Given the description of an element on the screen output the (x, y) to click on. 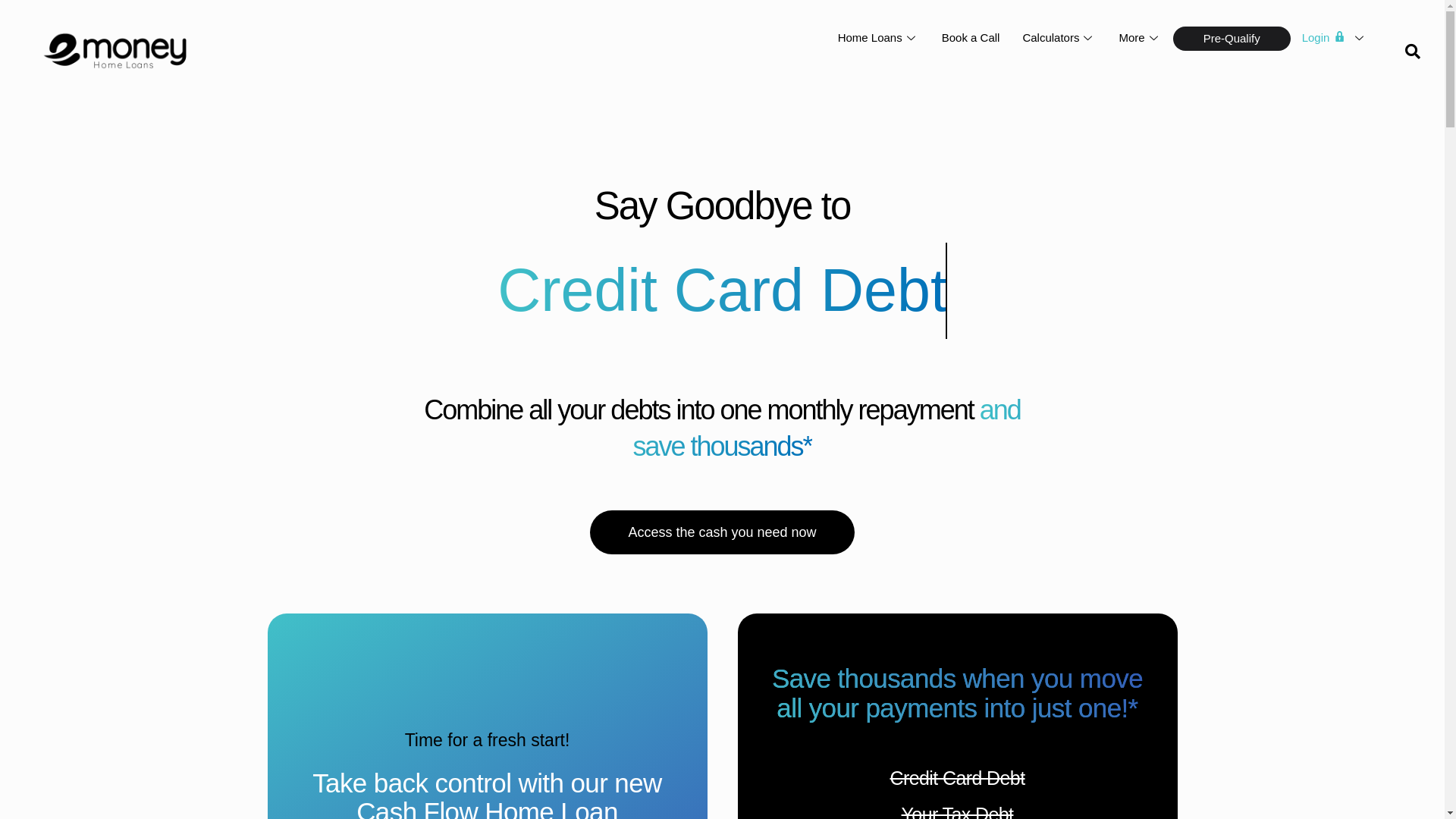
Calculators Element type: text (1058, 37)
Pre-Qualify Element type: text (1231, 38)
Home Loans Element type: text (878, 37)
Access the cash you need now Element type: text (721, 532)
Book a Call Element type: text (970, 37)
Login Element type: text (1334, 37)
More Element type: text (1139, 37)
